Given the description of an element on the screen output the (x, y) to click on. 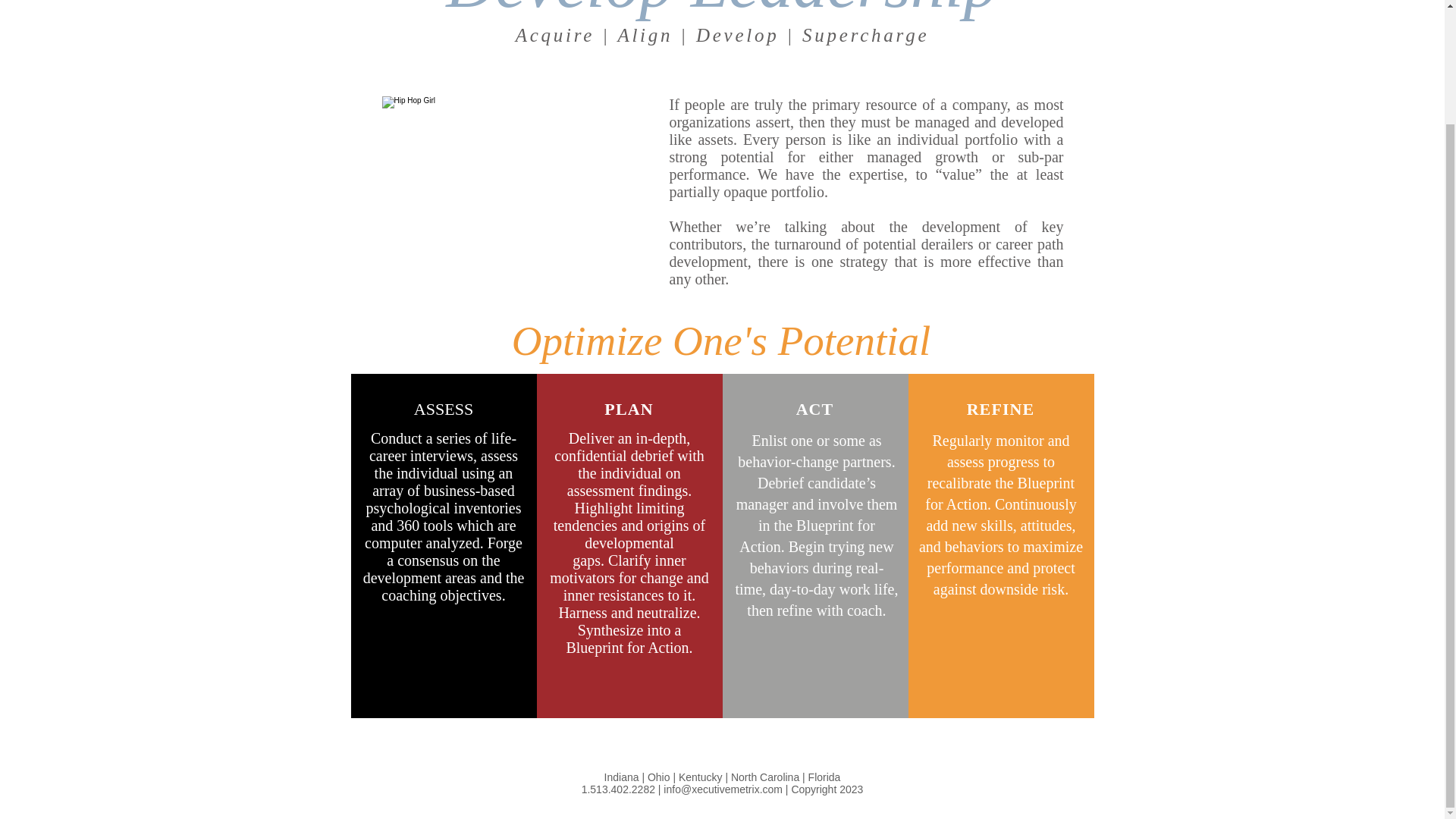
Develop (736, 35)
Acquire (554, 34)
Align (644, 35)
Supercharge (865, 35)
